Given the description of an element on the screen output the (x, y) to click on. 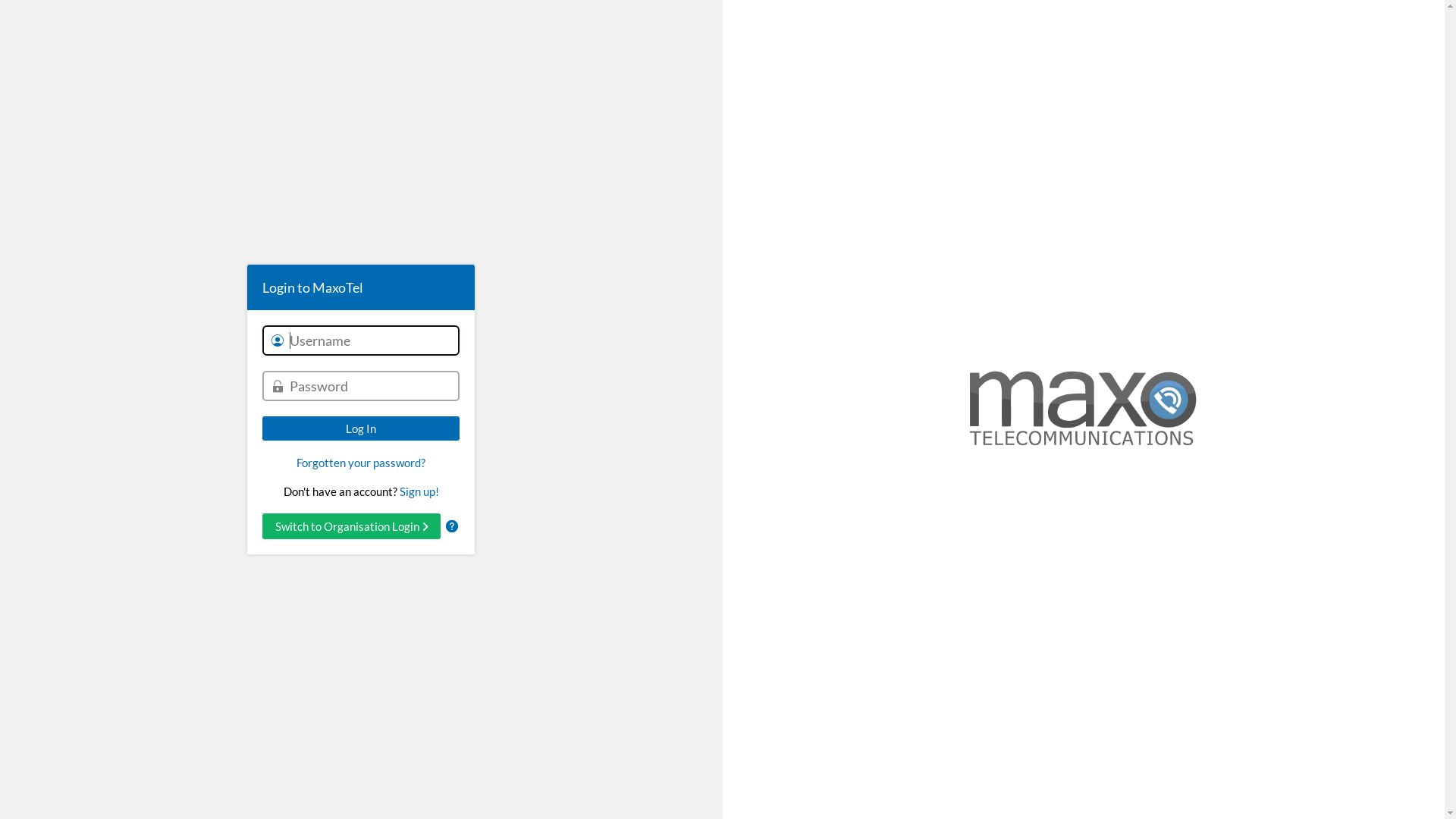
Sign up! Element type: text (419, 491)
Log In Element type: text (360, 428)
Switch to Organisation Login Element type: text (351, 526)
Forgotten your password? Element type: text (360, 462)
